Given the description of an element on the screen output the (x, y) to click on. 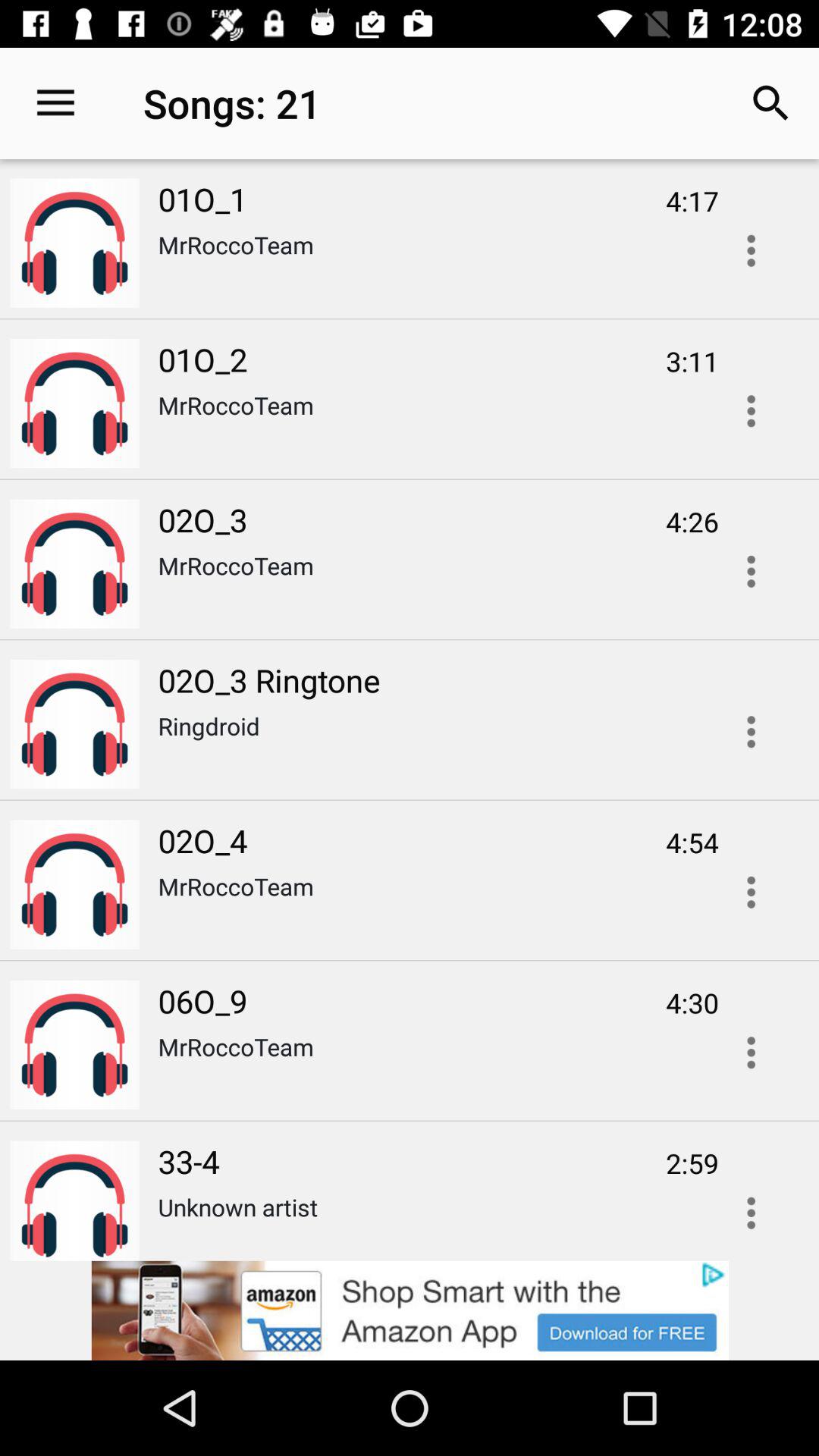
open more settings (750, 571)
